Given the description of an element on the screen output the (x, y) to click on. 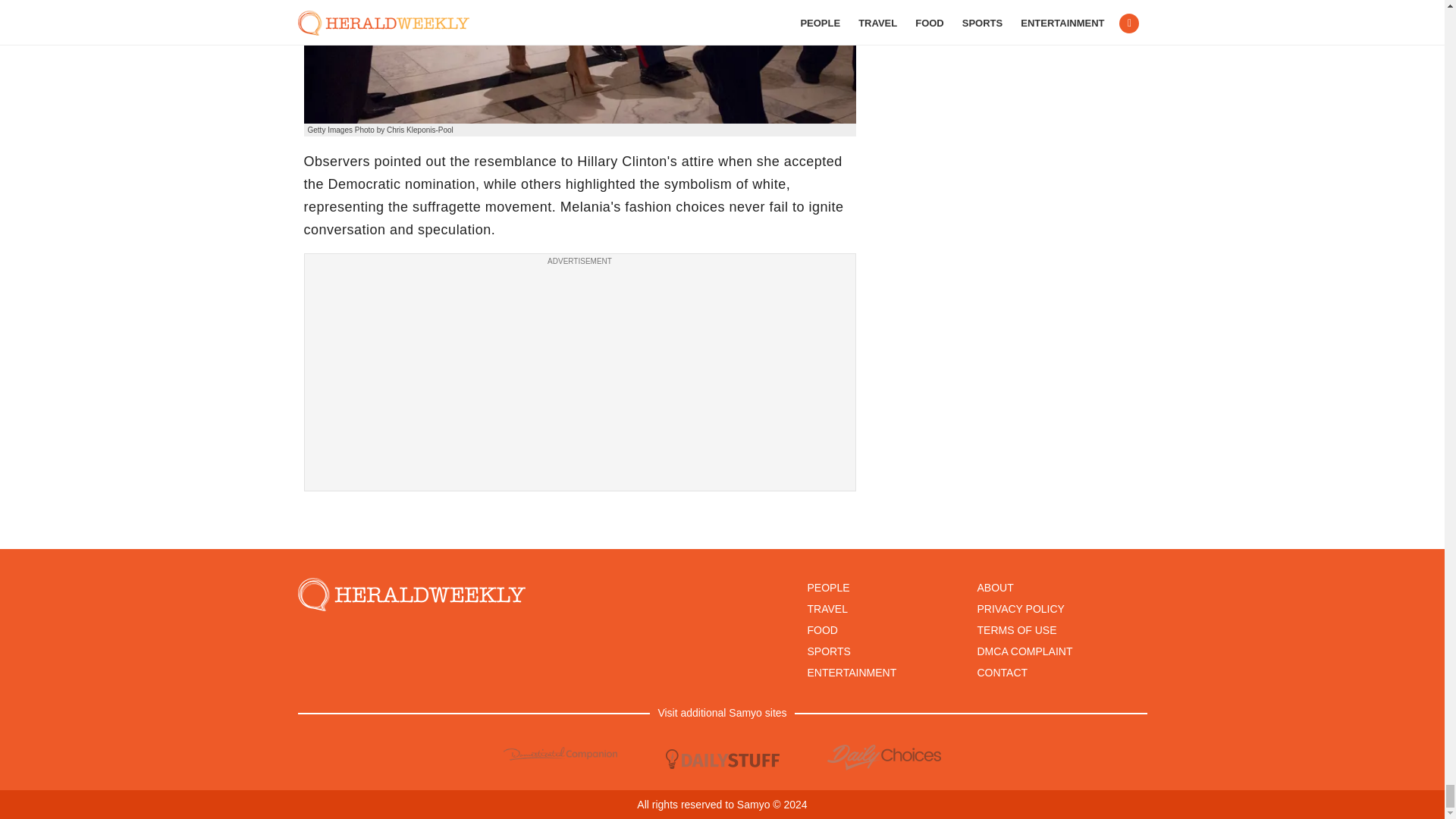
FOOD (821, 630)
ABOUT (994, 587)
ENTERTAINMENT (851, 672)
CONTACT (1001, 672)
PRIVACY POLICY (1020, 608)
TERMS OF USE (1016, 630)
PEOPLE (827, 587)
TRAVEL (826, 608)
SPORTS (828, 651)
DMCA COMPLAINT (1023, 651)
